Given the description of an element on the screen output the (x, y) to click on. 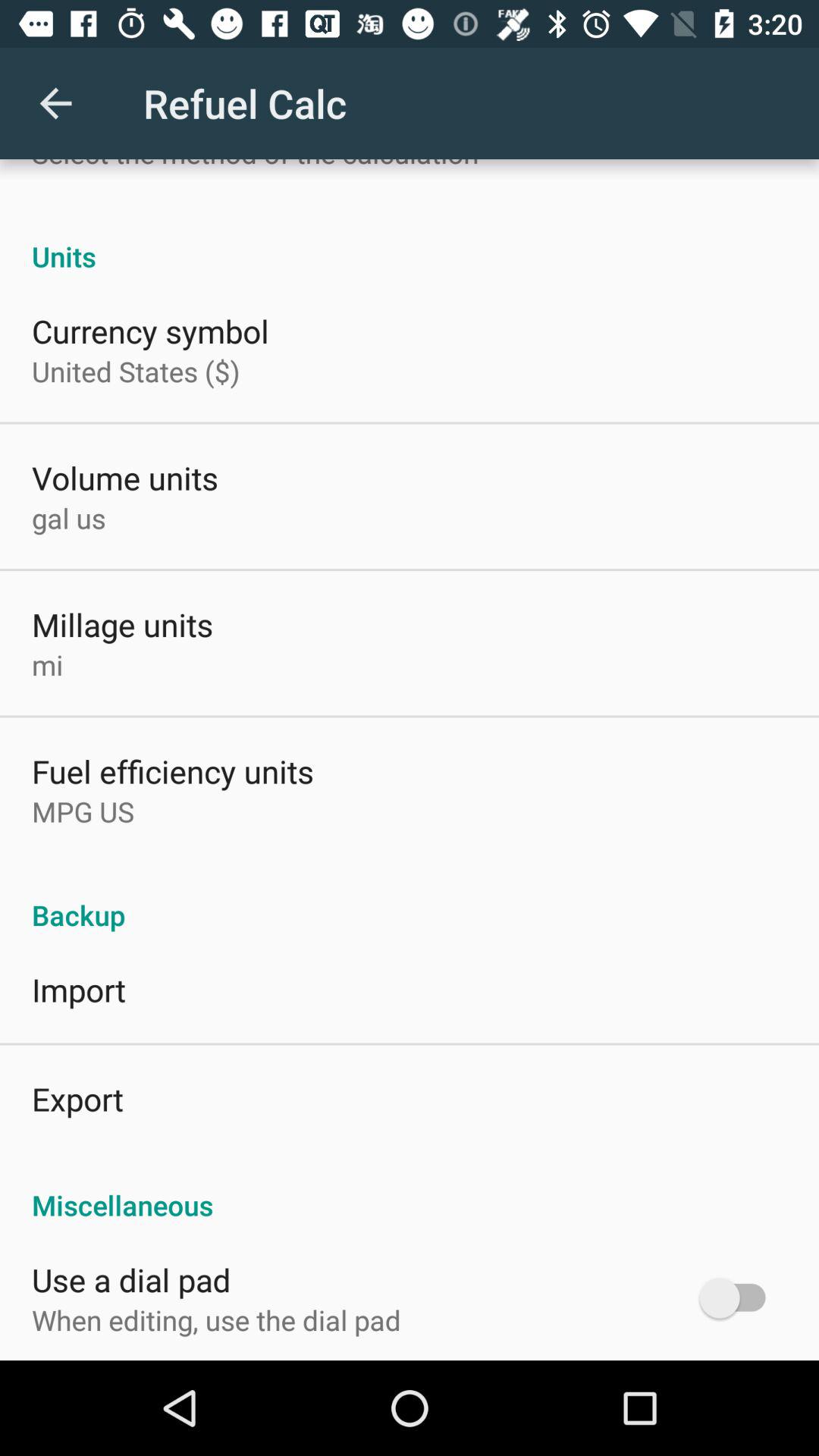
scroll to mpg us icon (82, 811)
